Given the description of an element on the screen output the (x, y) to click on. 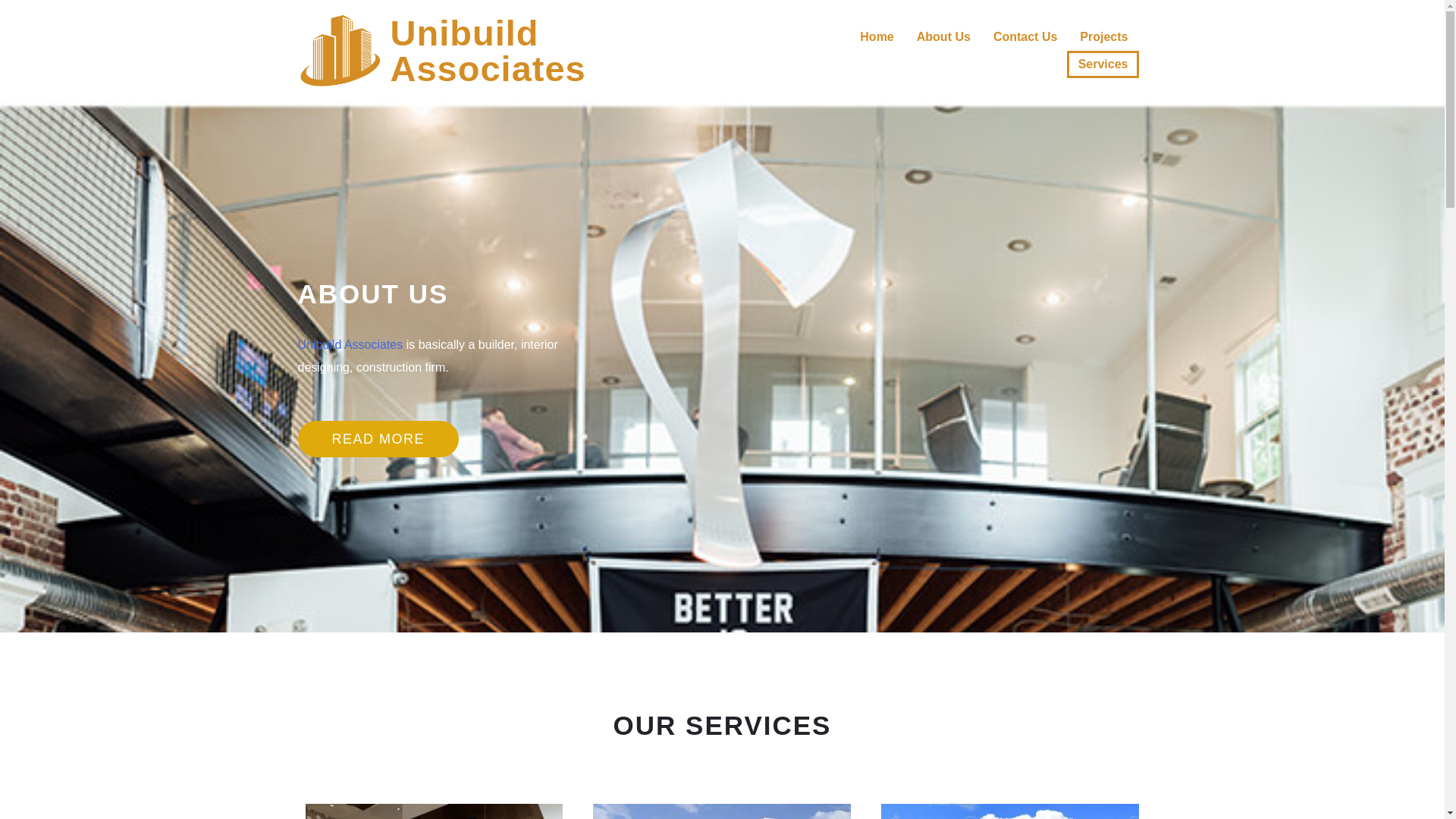
Projects (1103, 36)
About Us (943, 36)
READ MORE (377, 438)
turnkey project (721, 811)
Services (1103, 63)
interior designing (487, 50)
excavation work (433, 811)
Home (1009, 811)
Contact Us (876, 36)
Unibuild Associates (1024, 36)
